Given the description of an element on the screen output the (x, y) to click on. 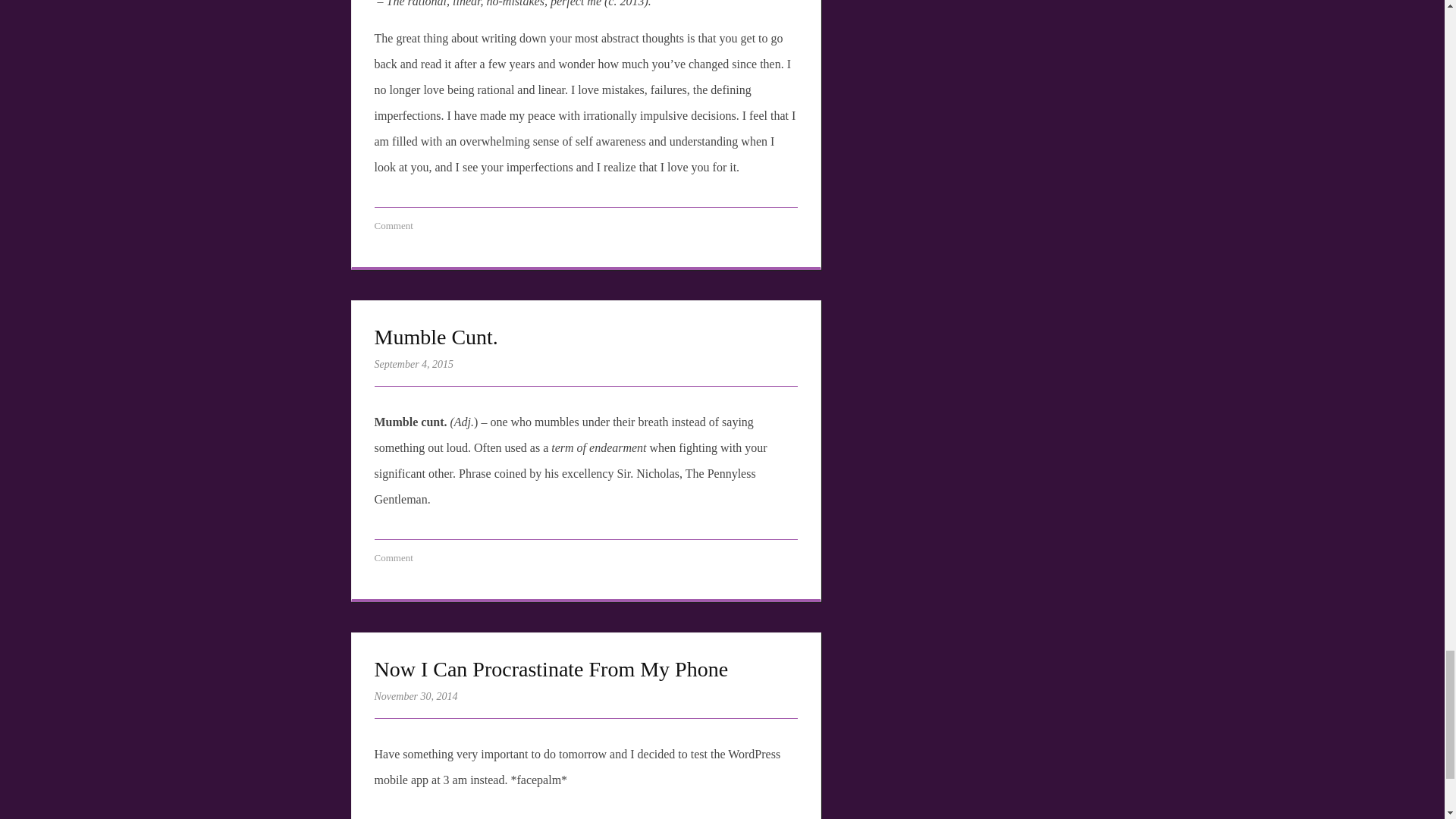
Comment (393, 557)
Comment (393, 225)
Now I Can Procrastinate From My Phone (551, 668)
Mumble Cunt.  (438, 336)
